Given the description of an element on the screen output the (x, y) to click on. 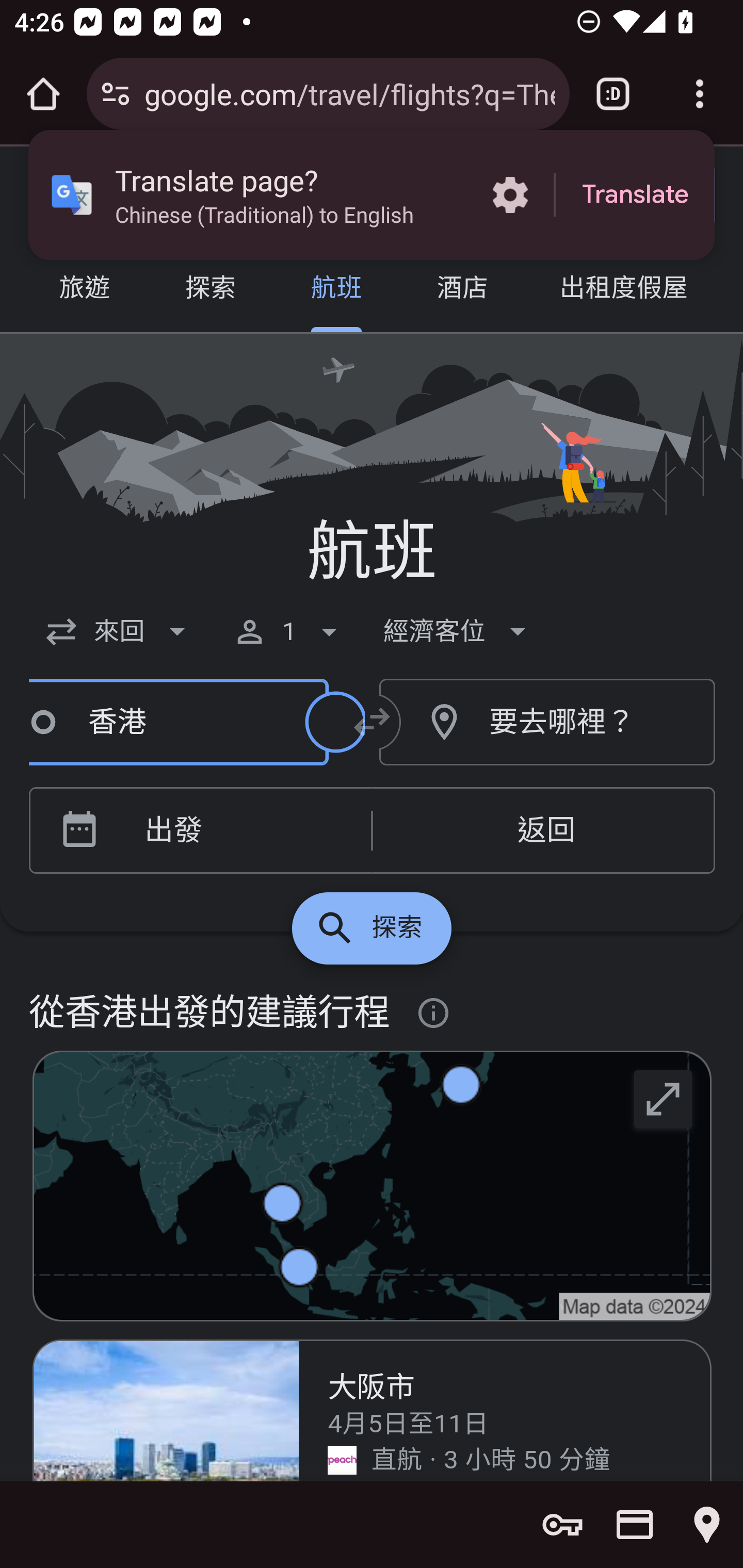
Open the home page (43, 93)
Connection is secure (115, 93)
Switch or close tabs (612, 93)
Customize and control Google Chrome (699, 93)
主選單 (58, 195)
Google Apps (513, 195)
登入 (643, 195)
旅遊  (84, 289)
探索  (209, 289)
航班  (336, 289)
酒店  (462, 289)
出租度假屋  (623, 289)
1 位乘客，變更乘客人數。 (289, 631)
香港 (164, 722)
出發 (229, 830)
返回 (543, 830)
探索更多目的地 (371, 928)
有關由香港出發嘅建議行程。 (434, 1013)
探索更多目的地 (663, 1098)
大阪市 4月5日至11日 樂桃航空 直航 3 小時 50 分鐘 1625 港元 (372, 1410)
Show saved passwords and password options (562, 1524)
Show saved payment methods (634, 1524)
Show saved addresses (706, 1524)
